Given the description of an element on the screen output the (x, y) to click on. 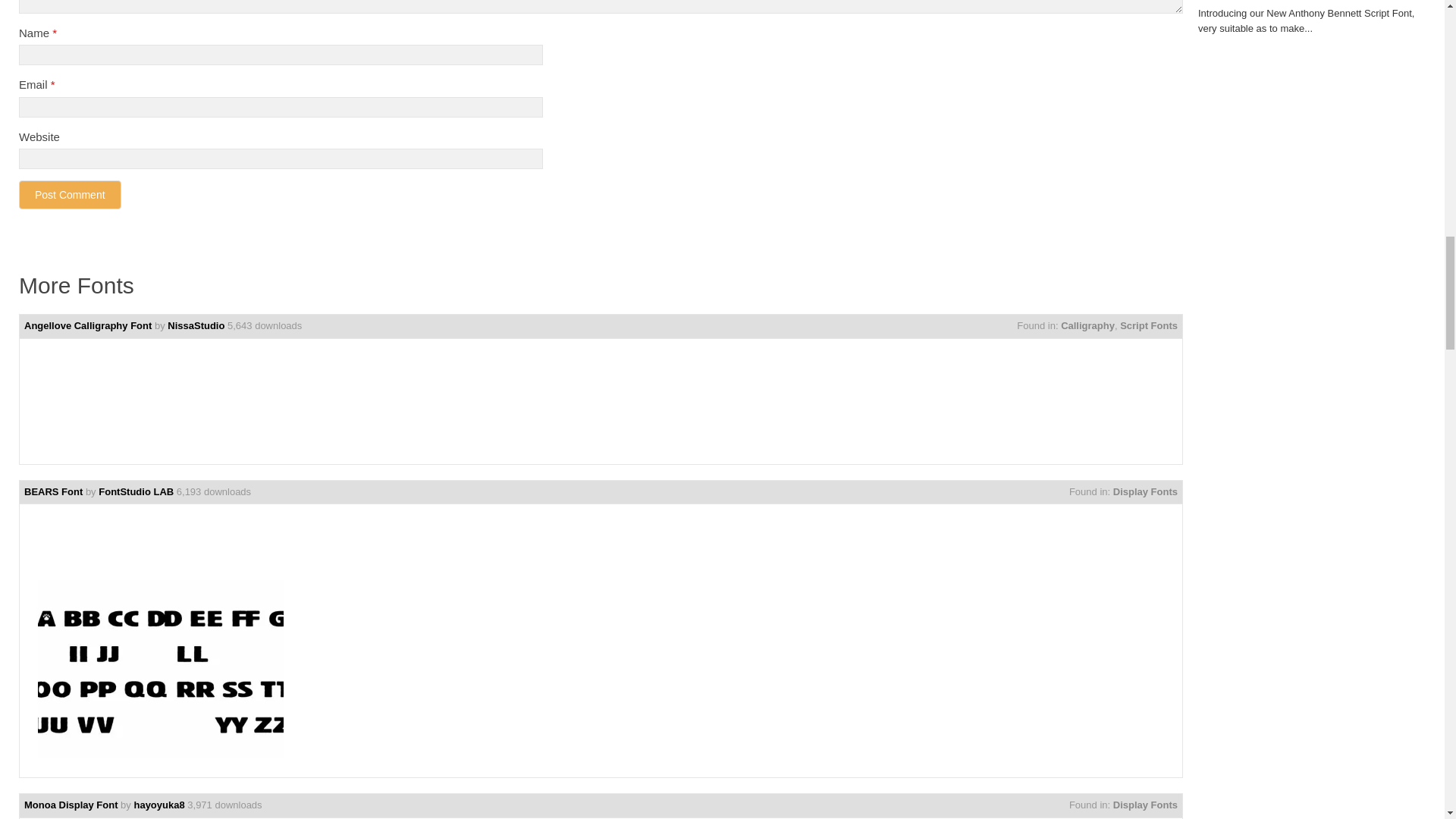
Post Comment (69, 194)
